Given the description of an element on the screen output the (x, y) to click on. 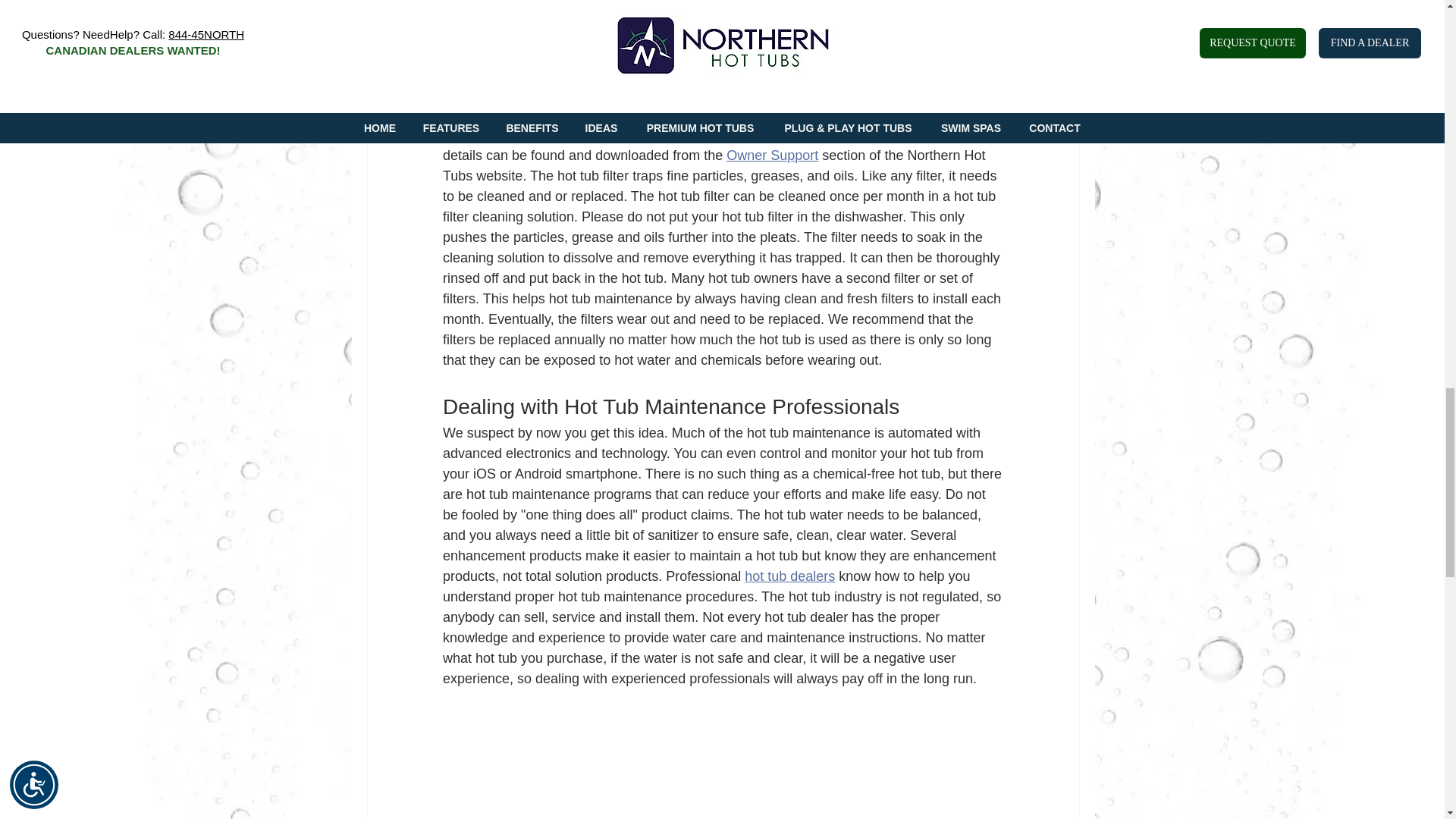
Owner Support (772, 155)
hot tub dealers (789, 575)
